Given the description of an element on the screen output the (x, y) to click on. 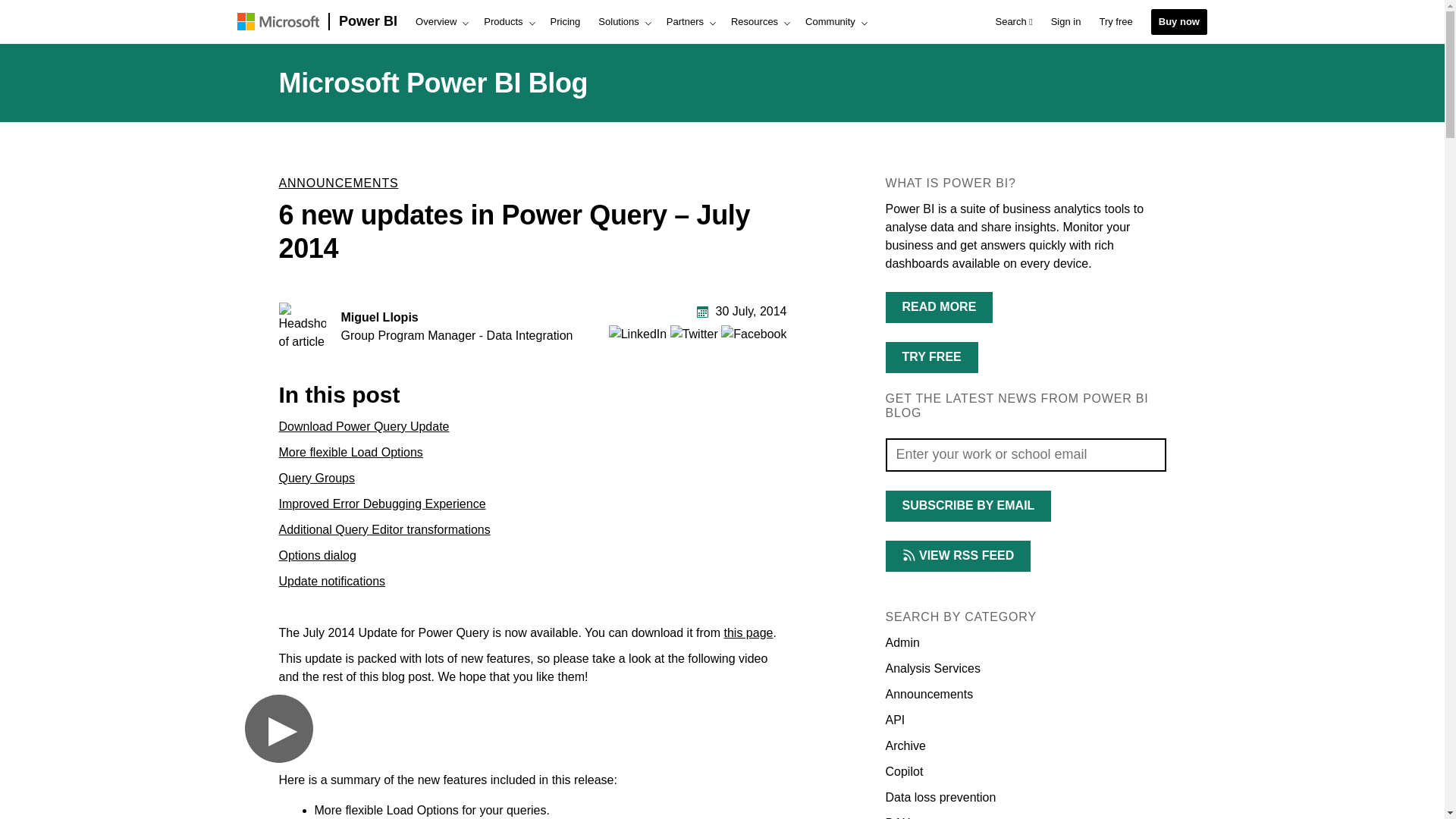
Posts by Miguel Llopis (379, 317)
Partners (690, 21)
Search (1013, 21)
Solutions (622, 21)
Sign in (1066, 21)
Overview (440, 21)
Products (507, 21)
Power BI (368, 21)
Pricing (565, 21)
